Given the description of an element on the screen output the (x, y) to click on. 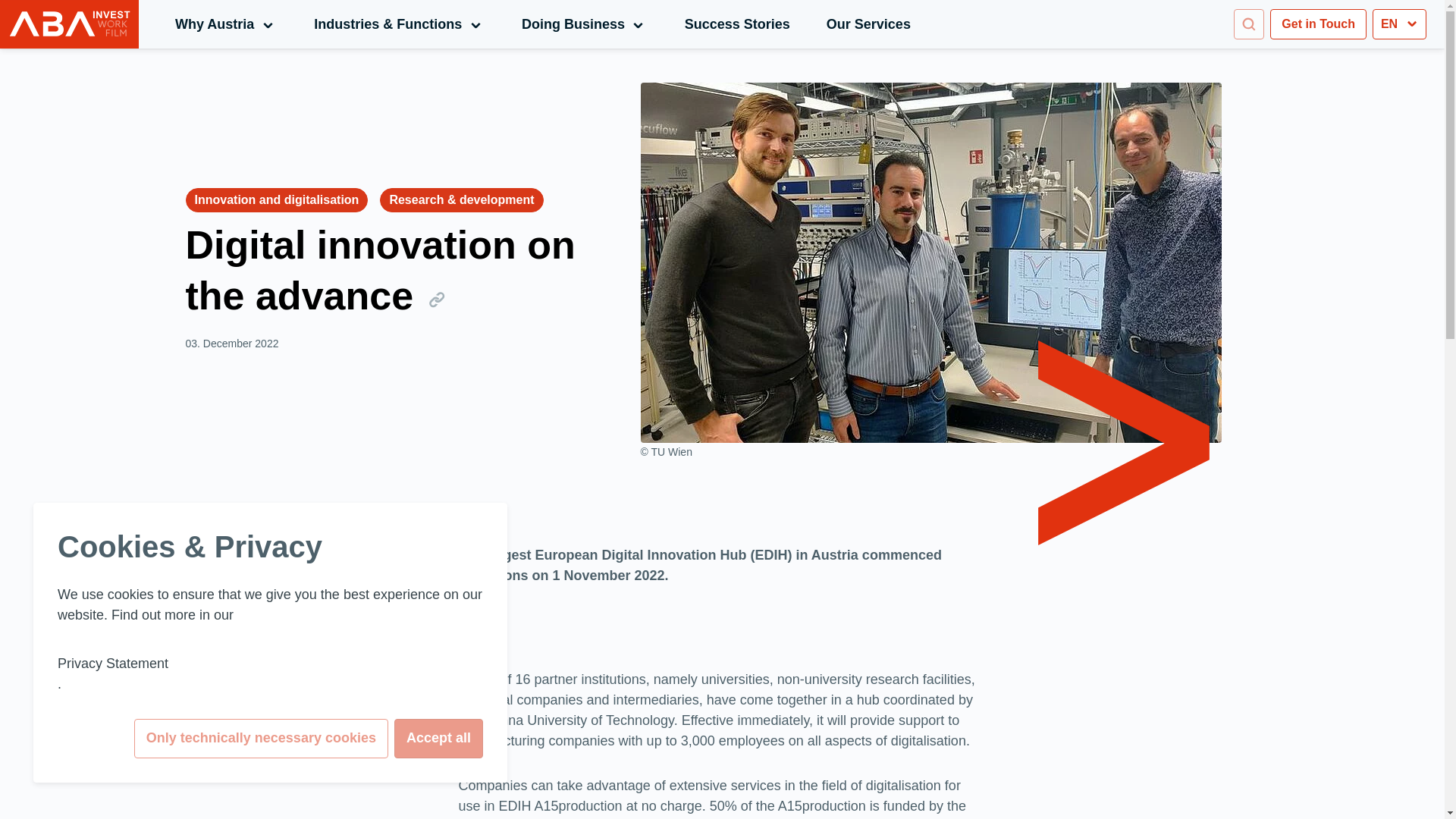
Success Stories (737, 24)
Get in Touch (1318, 24)
Our Services (869, 24)
INVEST in AUSTRIA (226, 24)
Skip to content (584, 24)
SEARCH (69, 24)
